Given the description of an element on the screen output the (x, y) to click on. 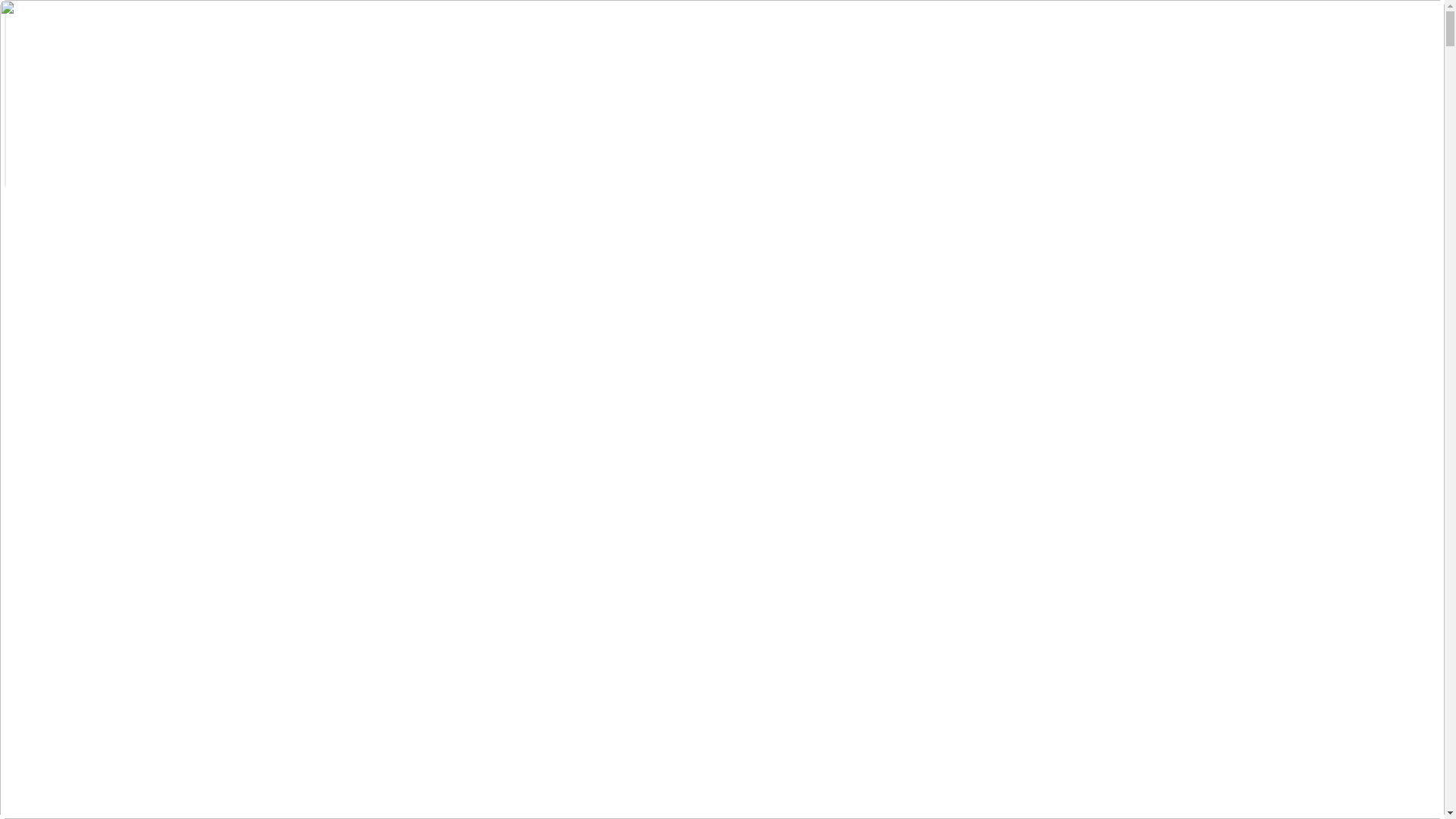
  Element type: text (118, 401)
  Element type: text (92, 401)
CONTACT Element type: text (62, 116)
ABOUT Element type: text (55, 52)
SERVICES Element type: text (63, 74)
GALLERY Element type: text (60, 95)
  Element type: text (27, 401)
Search for: Element type: hover (57, 176)
